Given the description of an element on the screen output the (x, y) to click on. 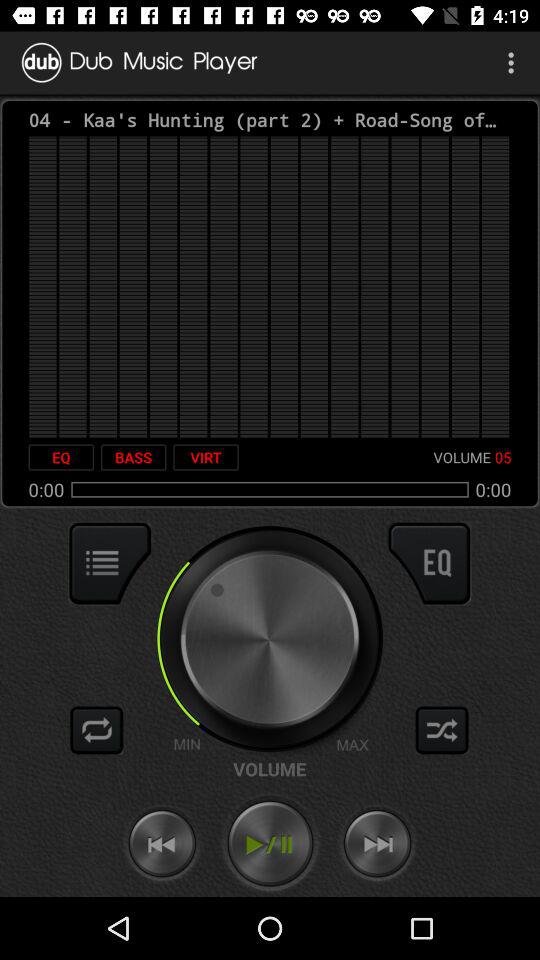
toggle play audio (269, 844)
